Given the description of an element on the screen output the (x, y) to click on. 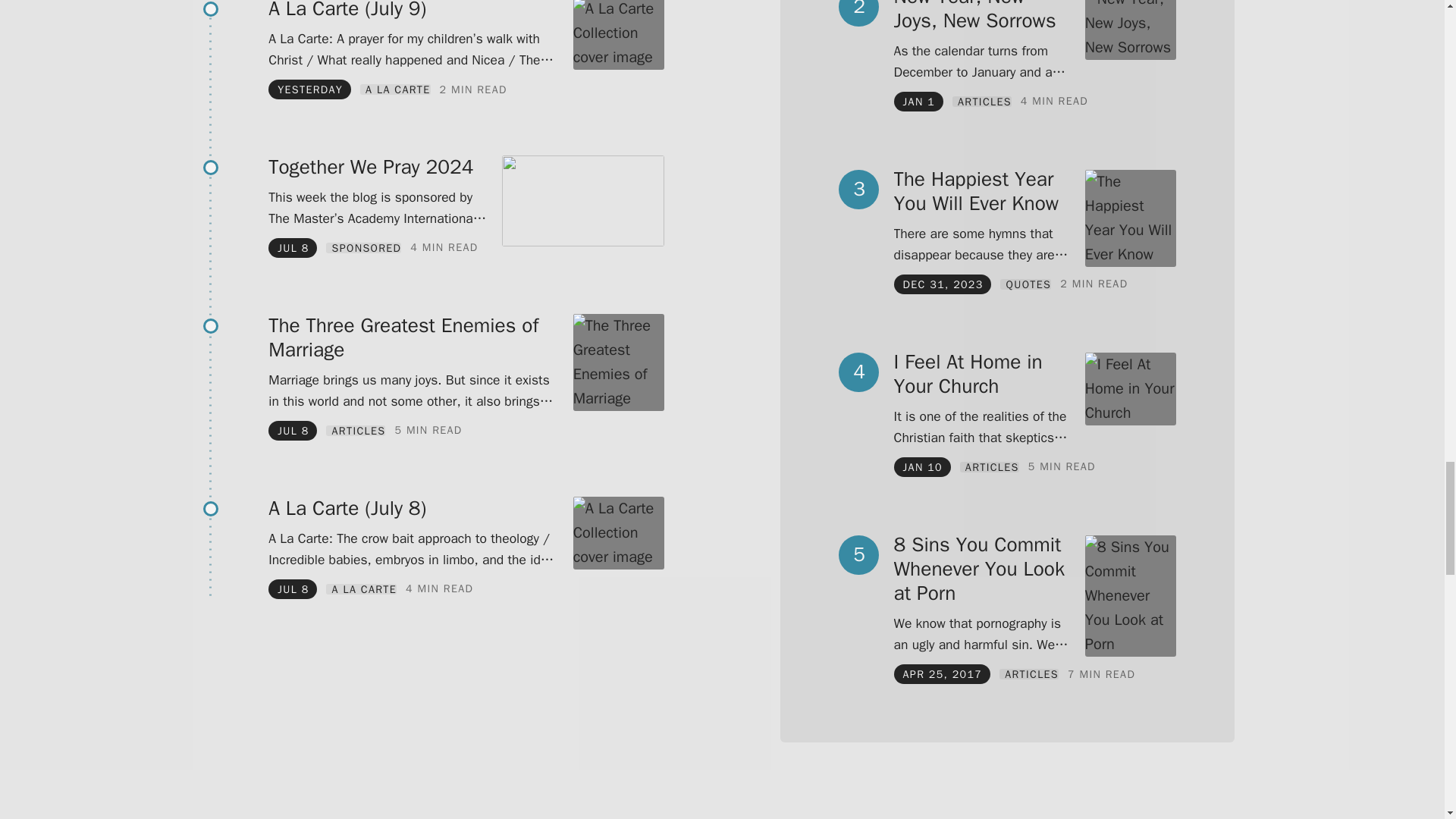
Jul 9, 2024 at 12:01 am (310, 89)
Jul 8, 2024 at 12:01 pm (293, 247)
349 words (472, 89)
